Given the description of an element on the screen output the (x, y) to click on. 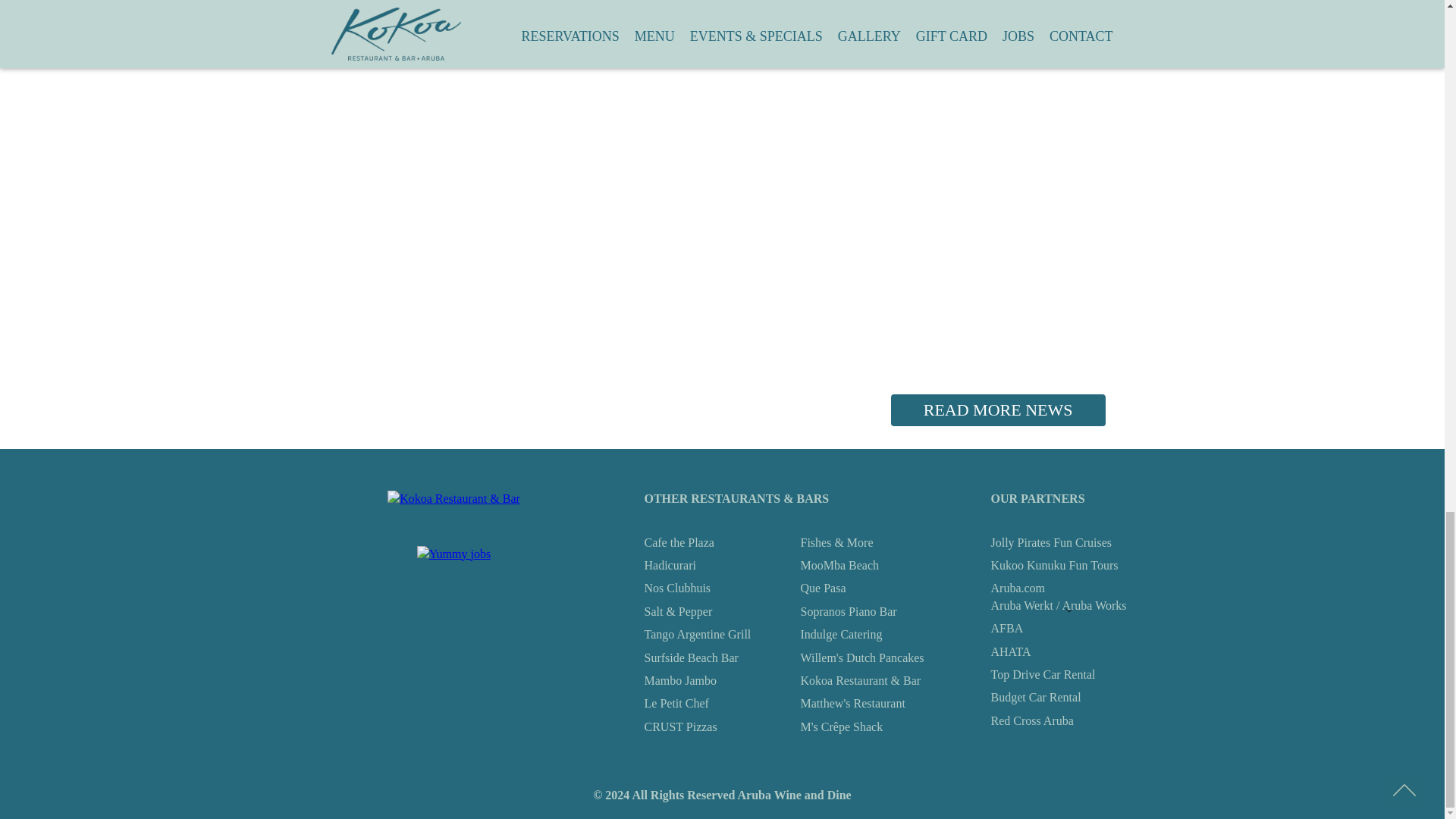
READ MORE NEWS (998, 409)
Willem's Dutch Pancakes (862, 657)
Sopranos Piano Bar (848, 611)
Tango Argentine Grill (698, 634)
Aruba.com (1017, 588)
Kukoo Kunuku Fun Tours (1054, 565)
Nos Clubhuis (678, 588)
Cafe the Plaza (679, 542)
Mambo Jambo (681, 680)
Indulge Catering (841, 634)
